Given the description of an element on the screen output the (x, y) to click on. 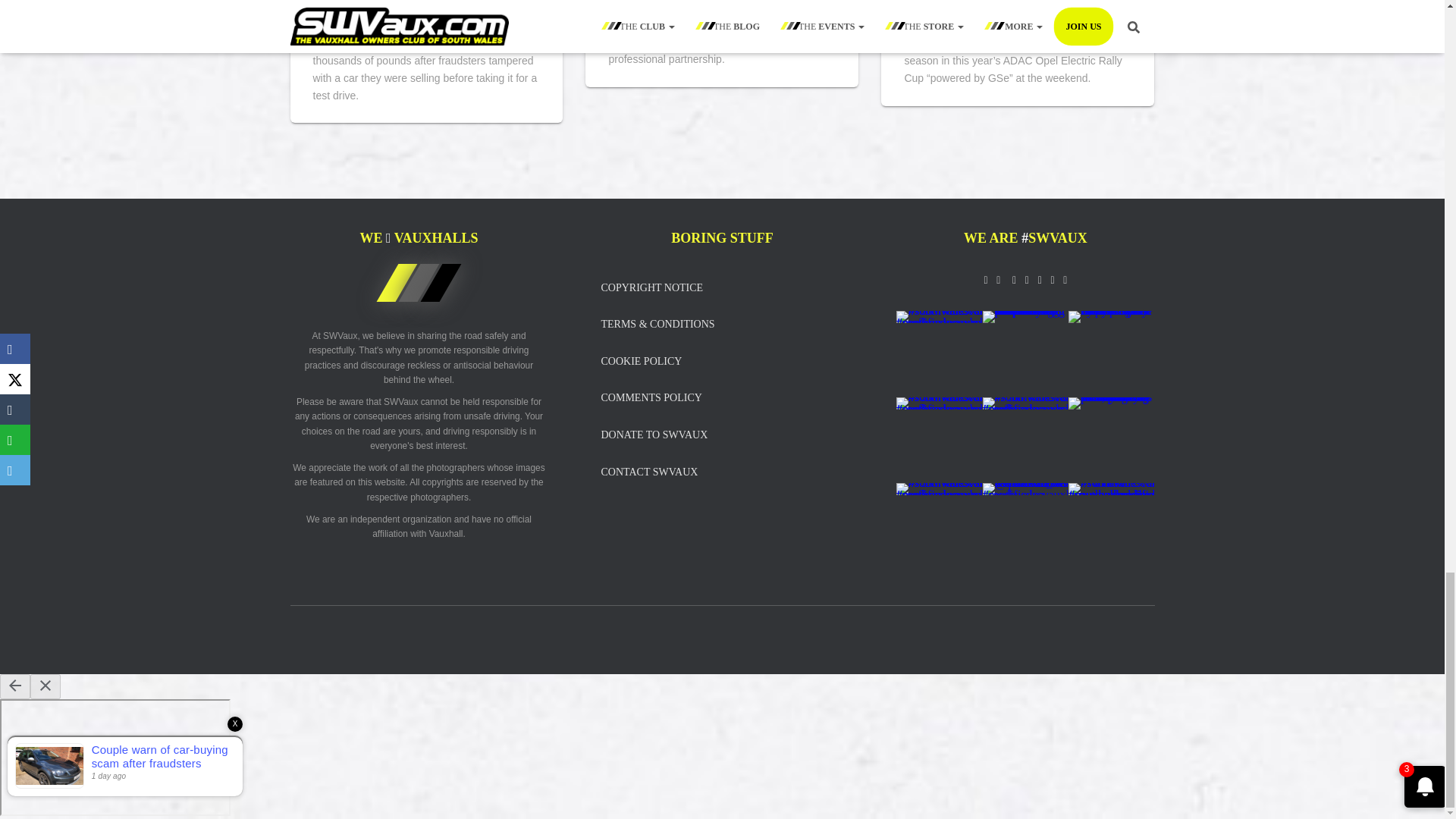
Jeremy Clarkson, May and Hammond officially end partnership (720, 2)
